Given the description of an element on the screen output the (x, y) to click on. 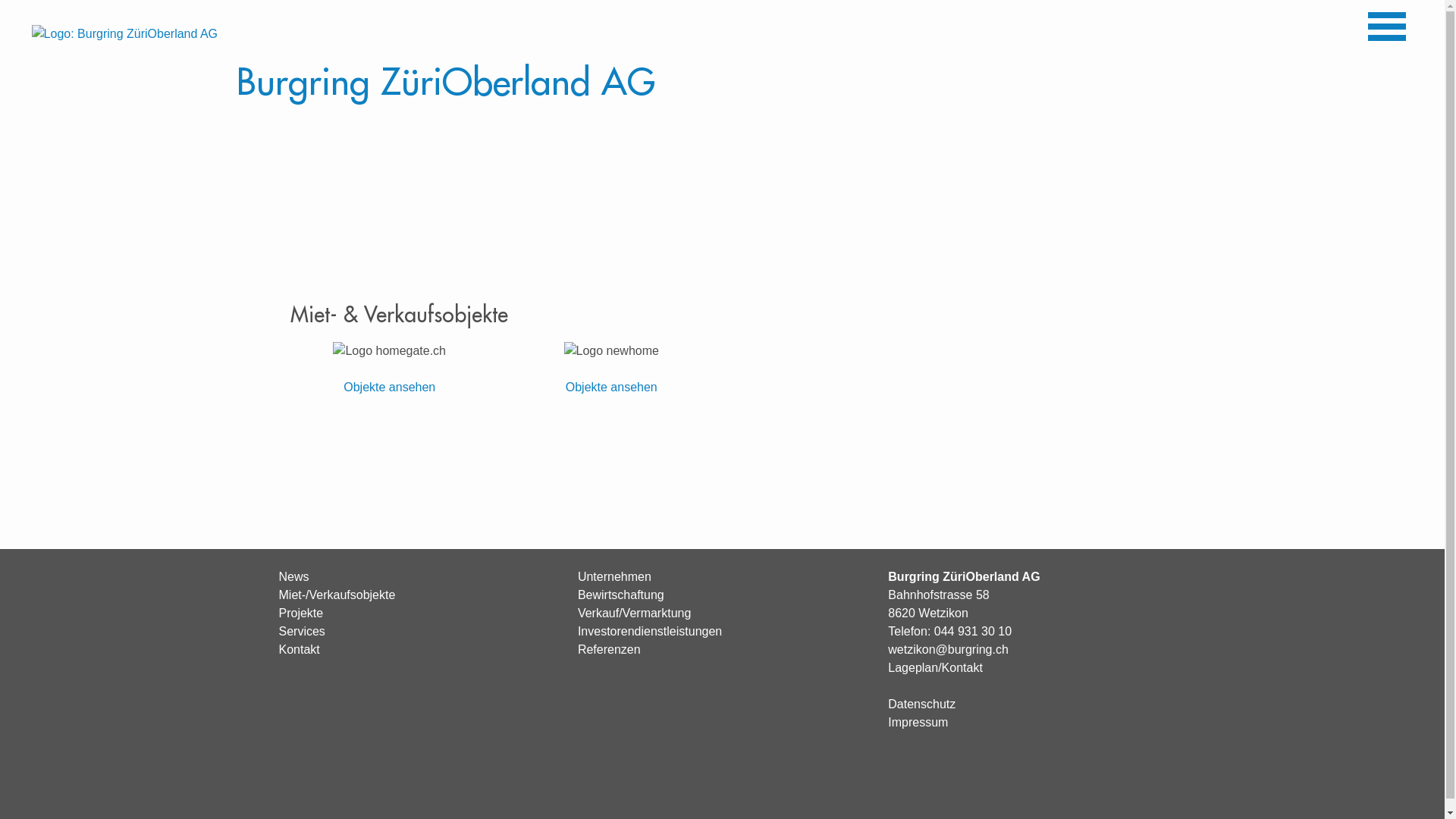
Objekte ansehen Element type: text (389, 386)
News Element type: text (294, 576)
Miet-/Verkaufsobjekte Element type: text (337, 594)
Objekte ansehen Element type: text (611, 386)
Datenschutz Element type: text (921, 703)
wetzikon@burgring.ch Element type: text (948, 649)
Projekte Element type: text (301, 612)
Unternehmen Element type: text (614, 576)
Direkt zum Inhalt Element type: text (42, 0)
Investorendienstleistungen Element type: text (649, 630)
Referenzen Element type: text (608, 649)
Impressum Element type: text (917, 721)
Verkauf/Vermarktung Element type: text (633, 612)
Kontakt Element type: text (299, 649)
Kontakt Element type: text (961, 667)
Lageplan Element type: text (913, 667)
Bewirtschaftung Element type: text (620, 594)
Services Element type: text (302, 630)
